Given the description of an element on the screen output the (x, y) to click on. 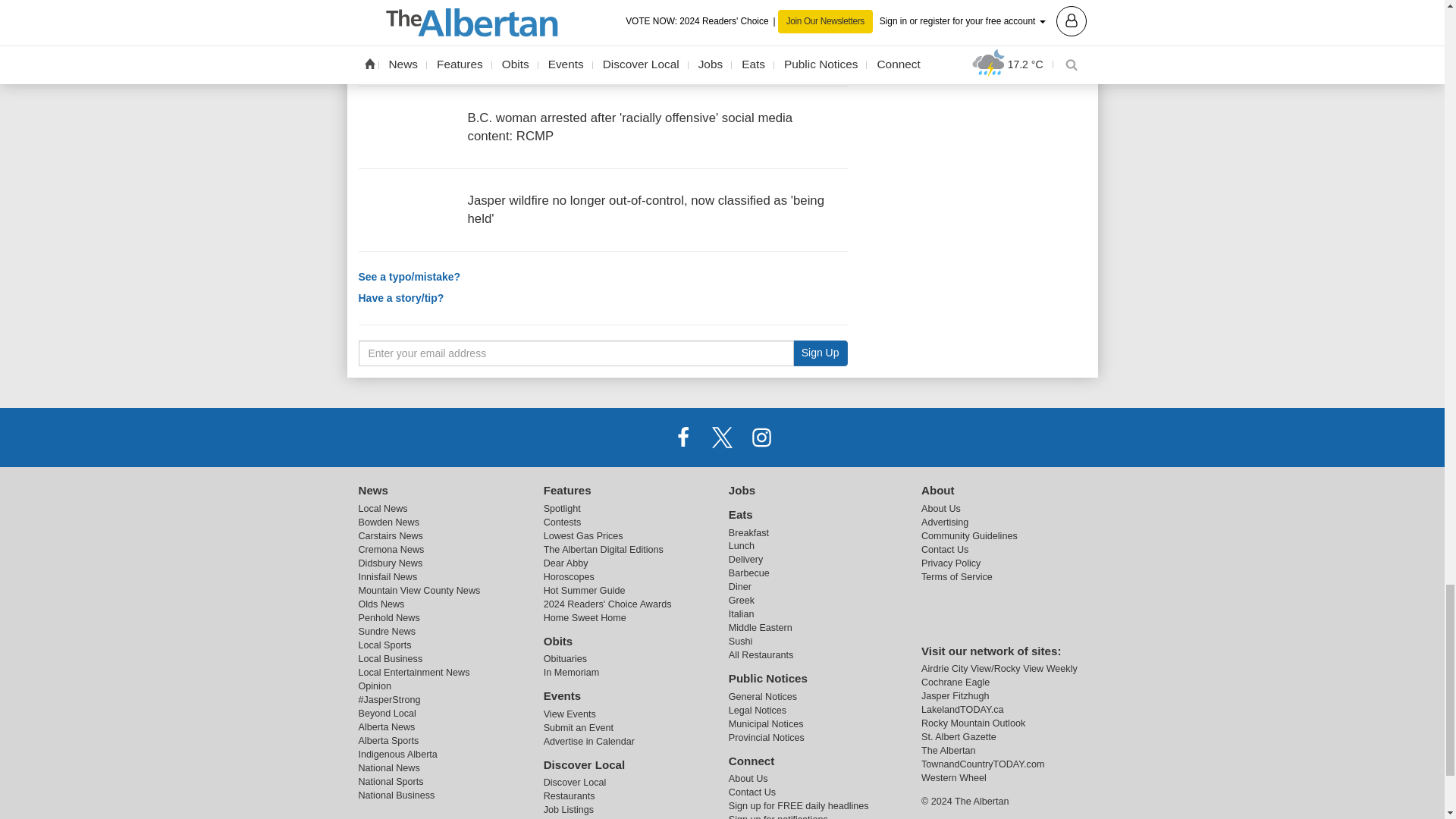
X (721, 437)
Facebook (683, 437)
Instagram (760, 437)
